Given the description of an element on the screen output the (x, y) to click on. 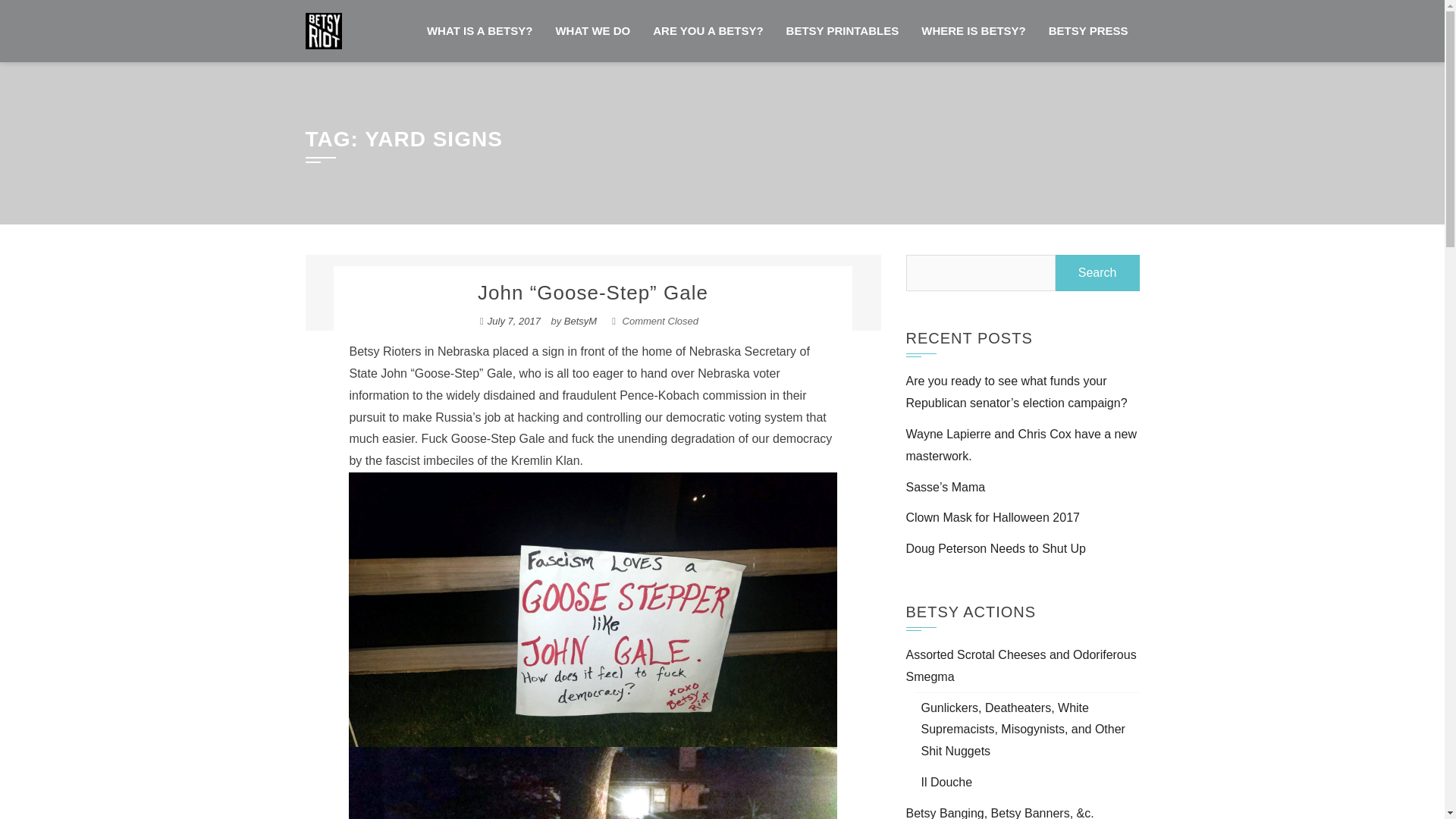
BetsyM (580, 320)
WHAT IS A BETSY? (478, 31)
WHERE IS BETSY? (973, 31)
BETSY PRINTABLES (842, 31)
WHAT WE DO (592, 31)
Search (1097, 272)
July 7, 2017 (513, 320)
ARE YOU A BETSY? (708, 31)
BETSY PRESS (1088, 31)
